Given the description of an element on the screen output the (x, y) to click on. 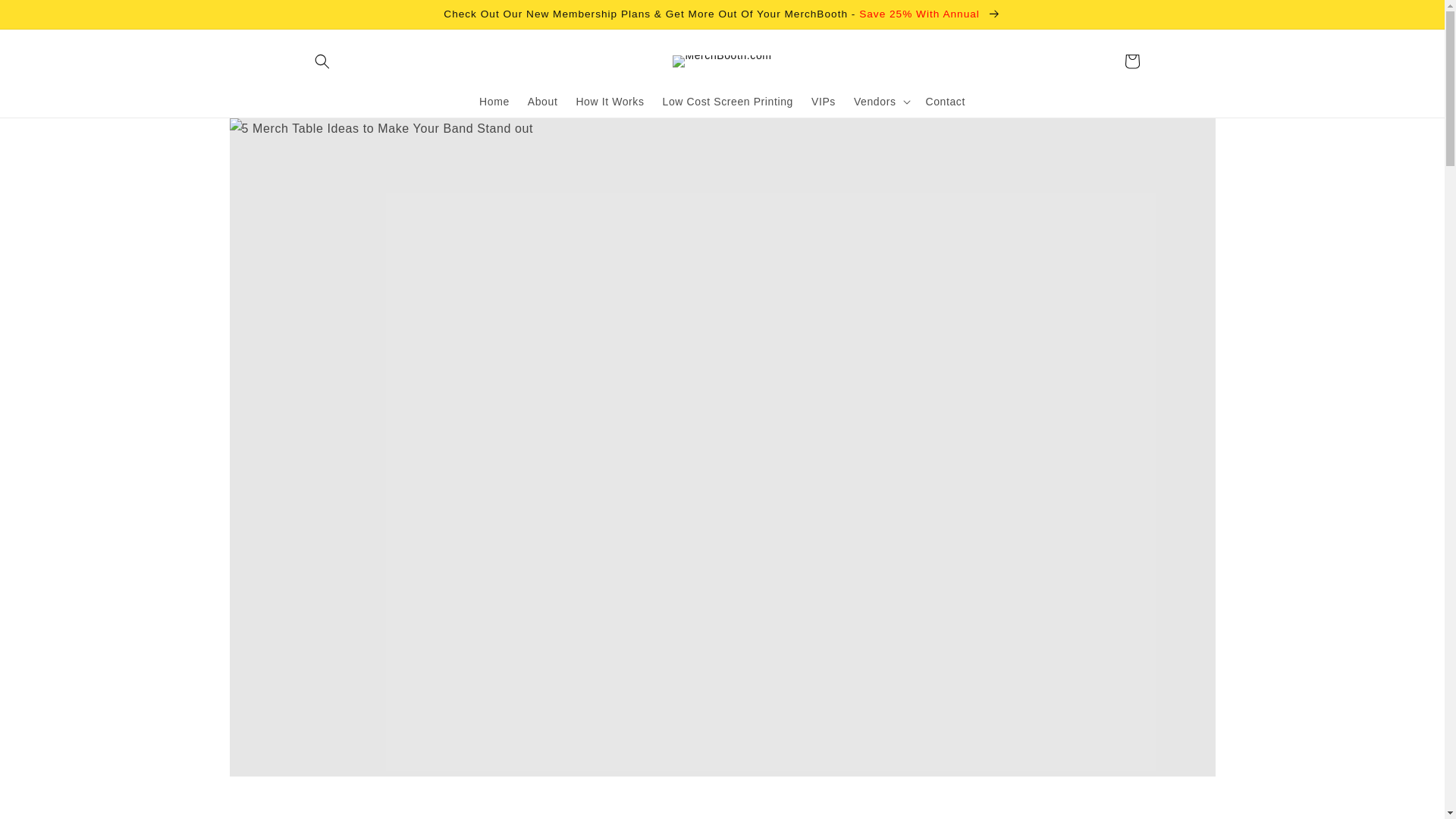
VIPs (823, 101)
How It Works (609, 101)
Low Cost Screen Printing (727, 101)
About (542, 101)
Cart (1131, 61)
Contact (944, 101)
Home (494, 101)
Skip to content (45, 17)
